Given the description of an element on the screen output the (x, y) to click on. 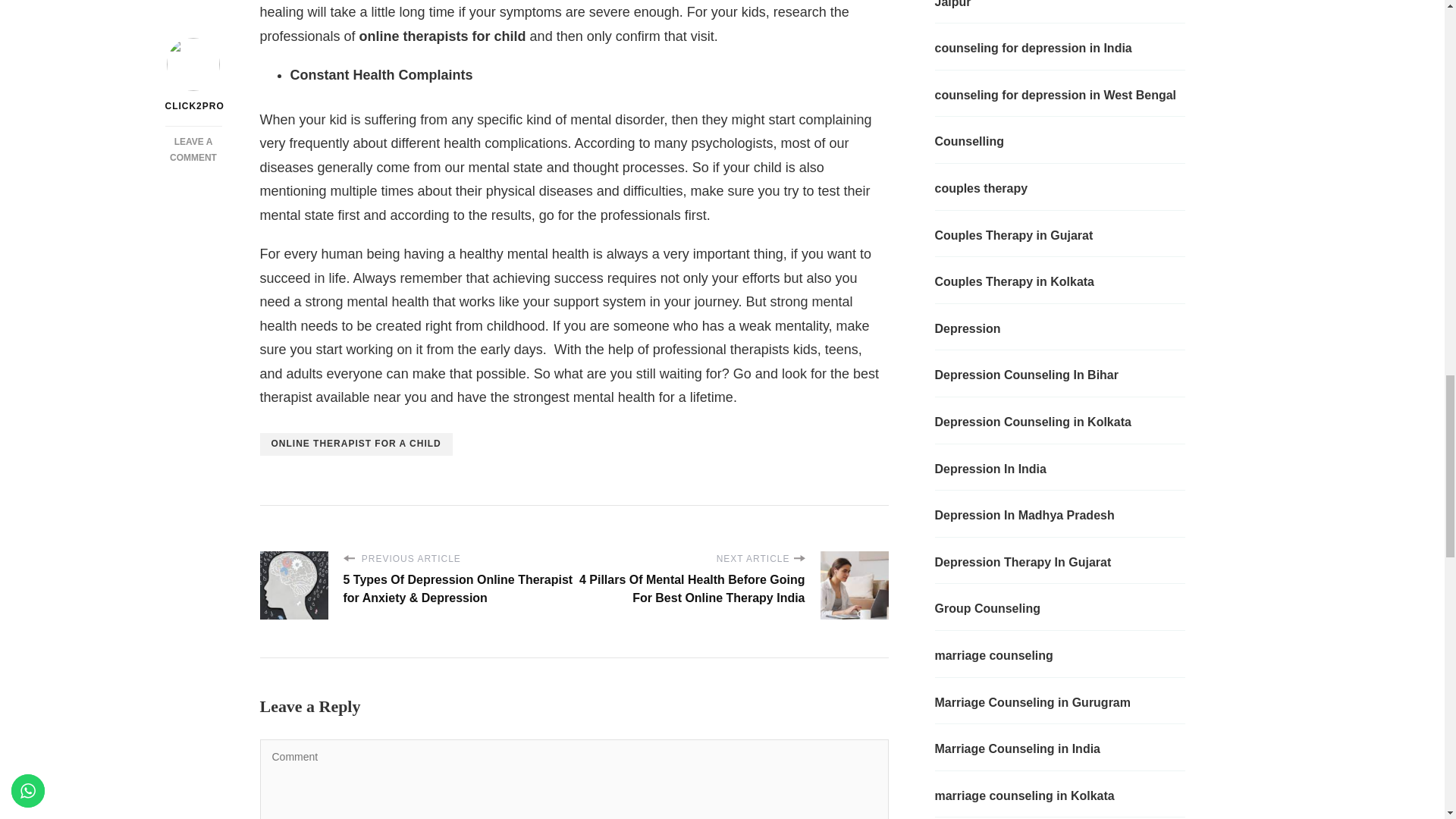
ONLINE THERAPIST FOR A CHILD (355, 444)
